Given the description of an element on the screen output the (x, y) to click on. 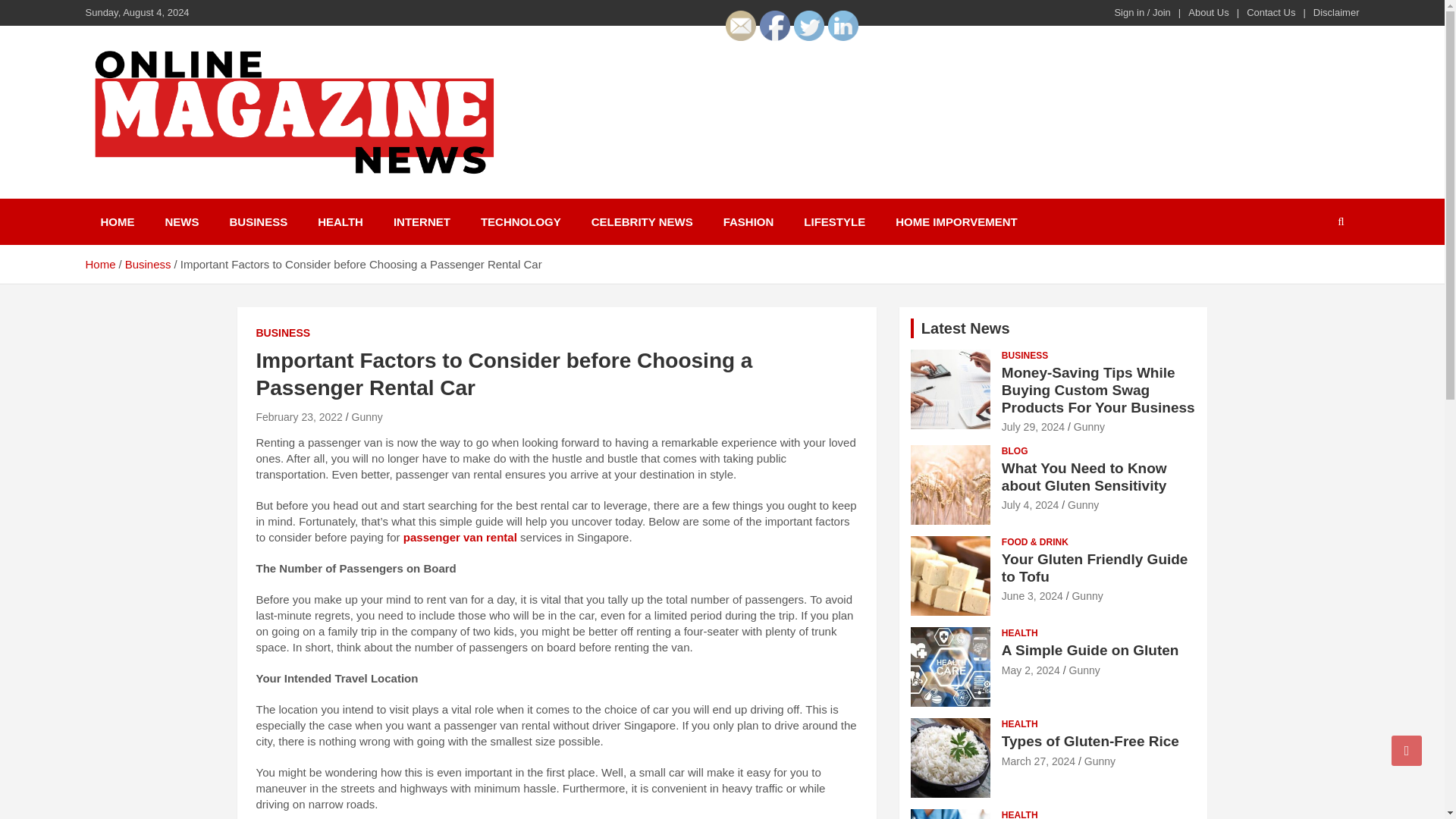
INTERNET (421, 221)
A Simple Guide on Gluten (1030, 670)
NEWS (181, 221)
BUSINESS (283, 333)
What You Need to Know about Gluten Sensitivity (1030, 504)
Business (148, 264)
TECHNOLOGY (520, 221)
Latest News (965, 328)
About Us (1208, 12)
BUSINESS (258, 221)
LIFESTYLE (834, 221)
Types of Gluten-Free Rice (1038, 761)
HEALTH (340, 221)
